Given the description of an element on the screen output the (x, y) to click on. 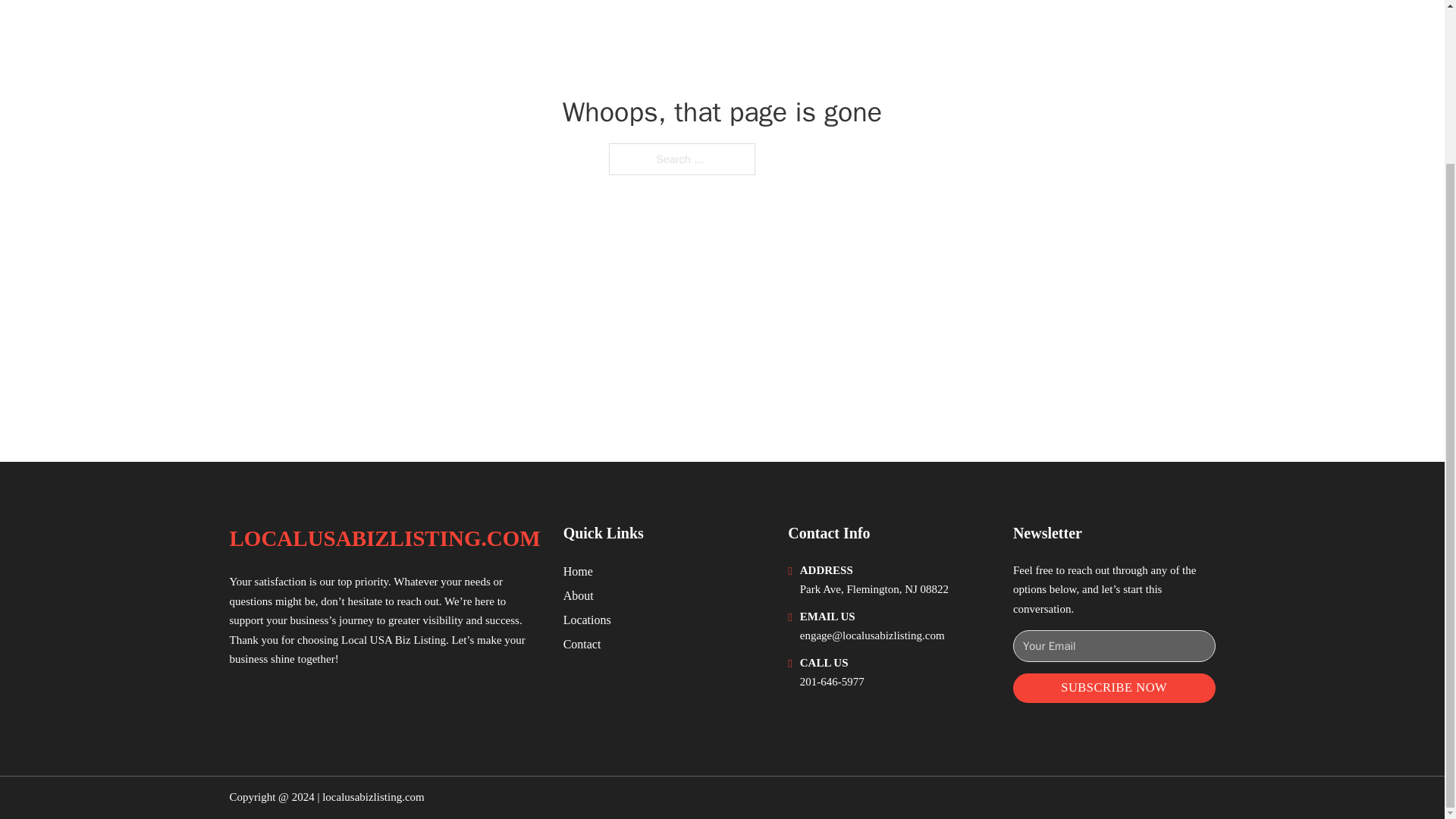
LOCALUSABIZLISTING.COM (384, 538)
About (578, 595)
Contact (582, 643)
Home (577, 571)
201-646-5977 (831, 681)
Locations (587, 619)
SUBSCRIBE NOW (1114, 687)
